Given the description of an element on the screen output the (x, y) to click on. 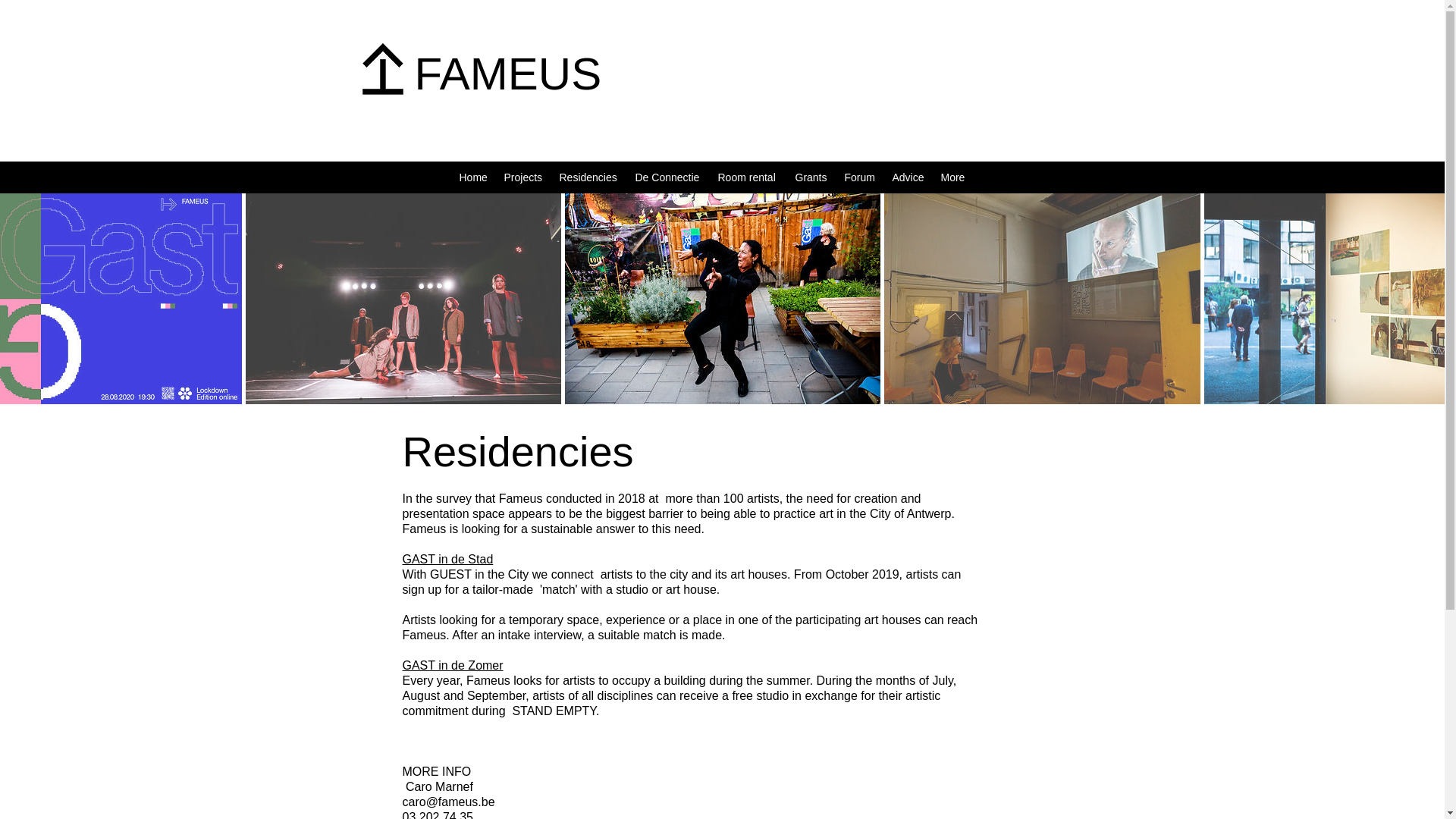
Home (473, 177)
Grants (811, 177)
FAMEUS (507, 73)
Residencies (589, 177)
Projects (523, 177)
Room rental (748, 177)
De Connectie (668, 177)
